Given the description of an element on the screen output the (x, y) to click on. 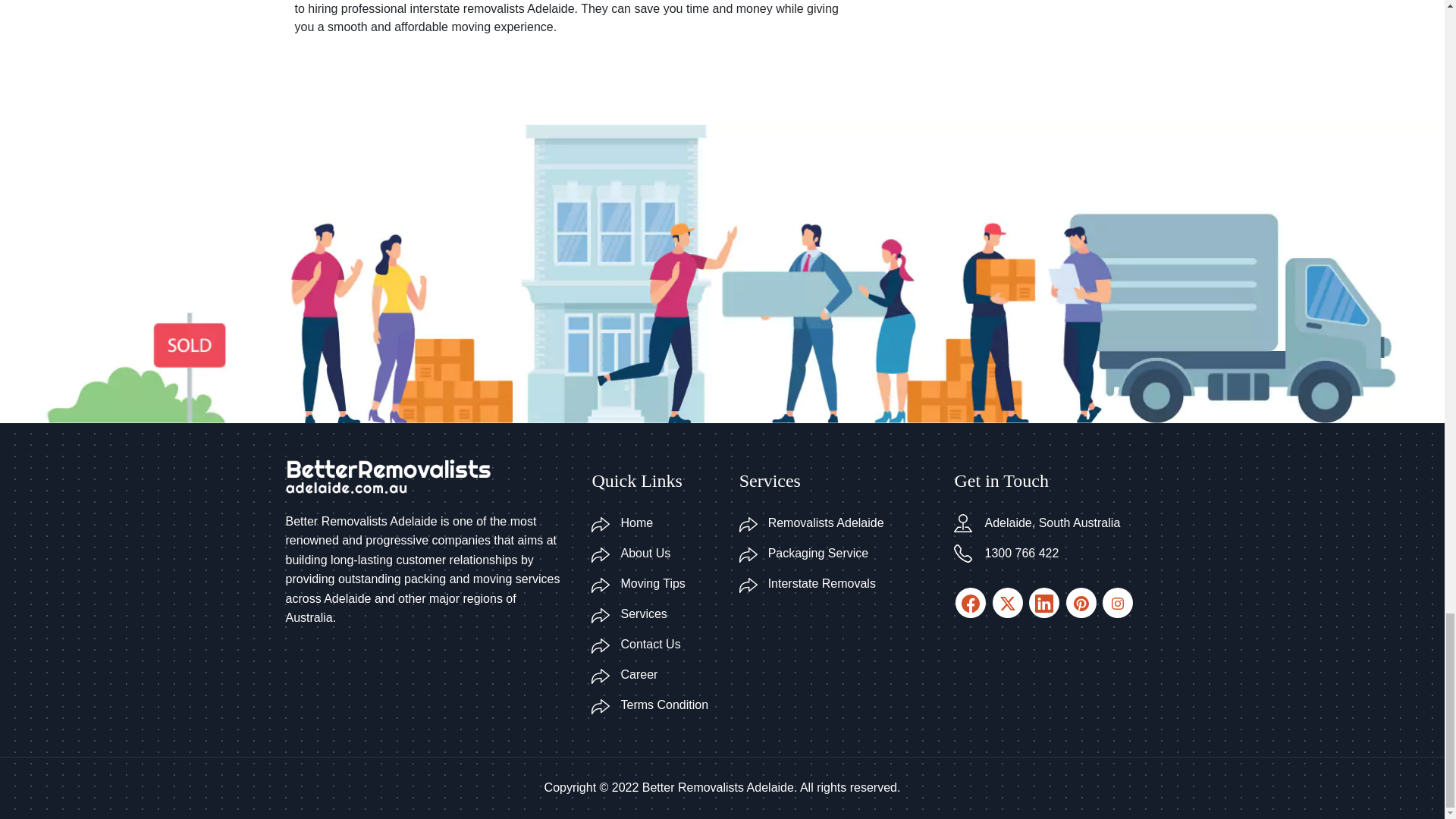
Instagram Better removalists Adelaide (1007, 603)
Pinterest Better removalists Adelaide (970, 603)
